Given the description of an element on the screen output the (x, y) to click on. 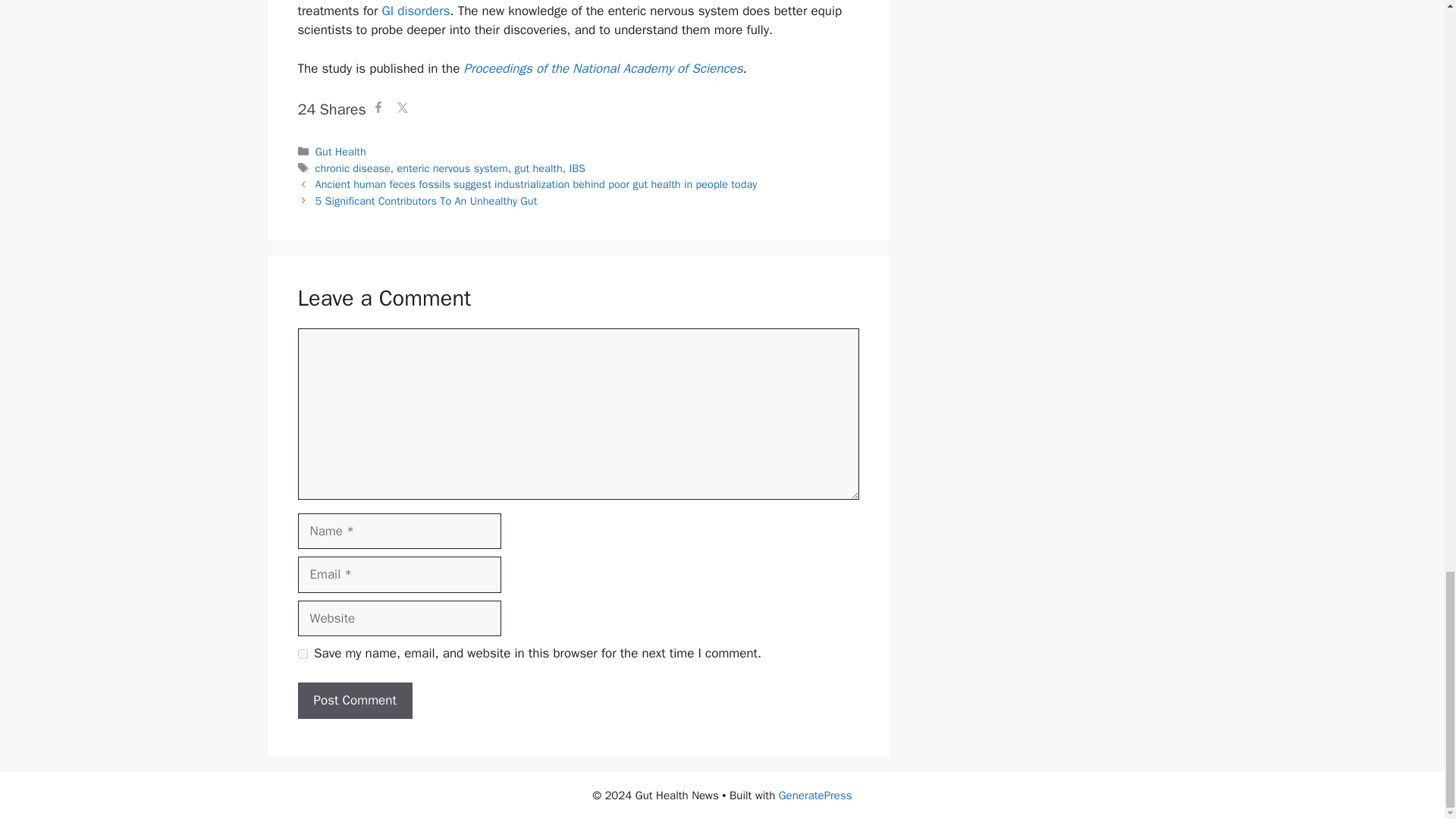
IBS (577, 168)
enteric nervous system (451, 168)
Proceedings of the National Academy of Sciences (602, 68)
yes (302, 654)
gut health (538, 168)
Share on Twitter (402, 109)
5 Significant Contributors To An Unhealthy Gut (426, 201)
chronic disease (352, 168)
Post Comment (354, 700)
Gut Health (340, 151)
Post Comment (354, 700)
GI disorders (415, 10)
Share on Facebook (378, 109)
